Given the description of an element on the screen output the (x, y) to click on. 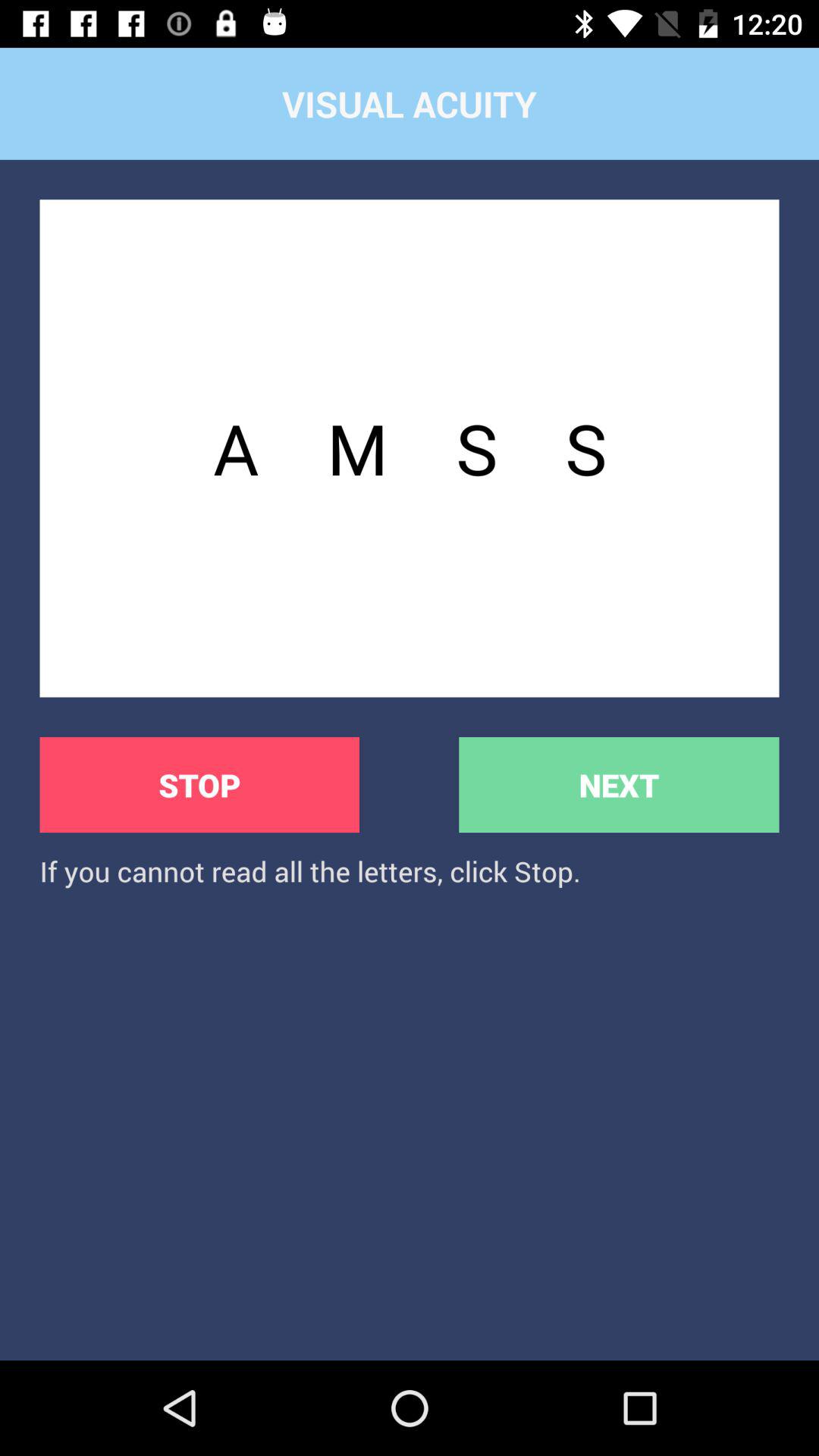
click next on the right (618, 784)
